Given the description of an element on the screen output the (x, y) to click on. 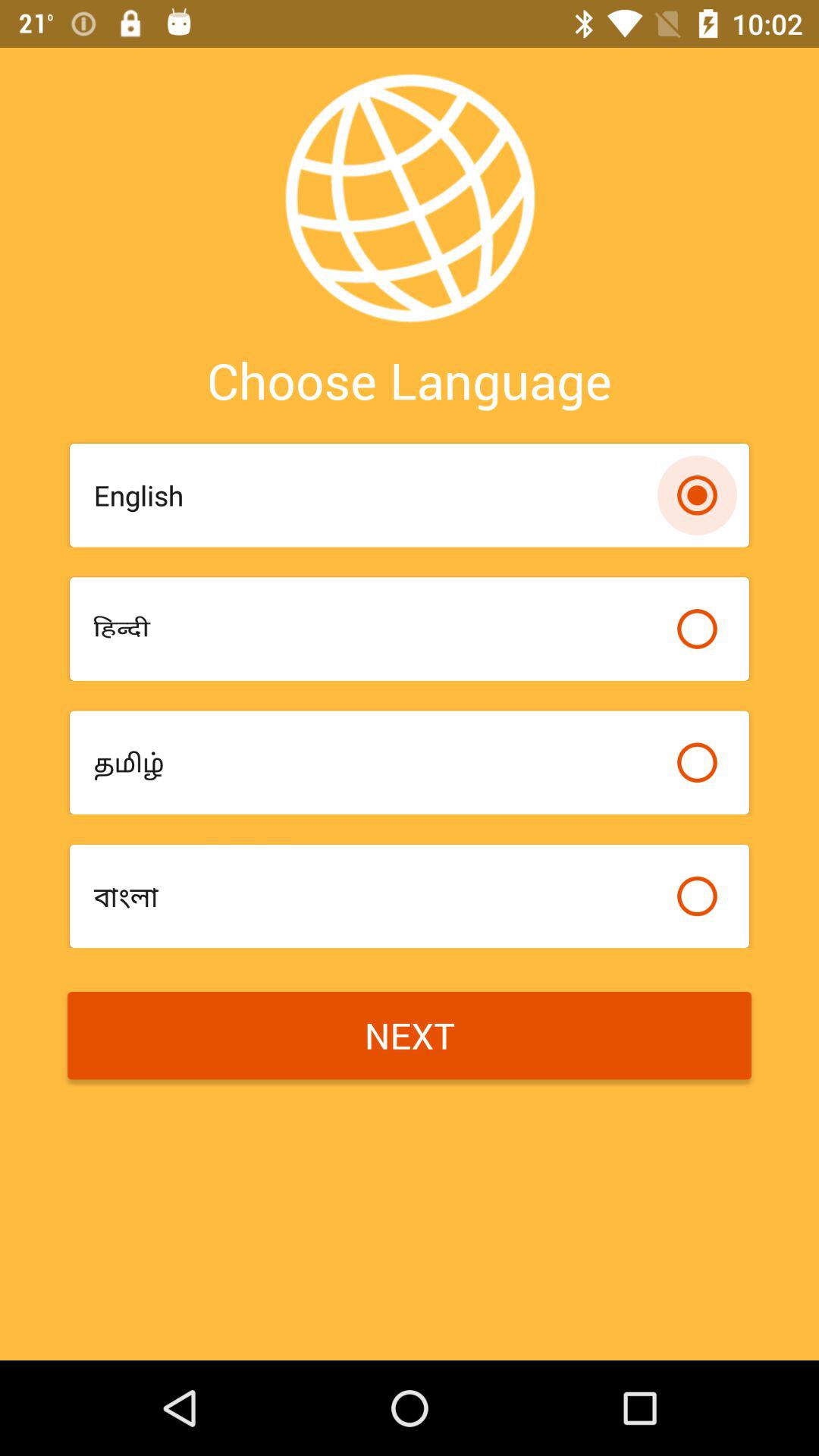
select the item above next (377, 896)
